Given the description of an element on the screen output the (x, y) to click on. 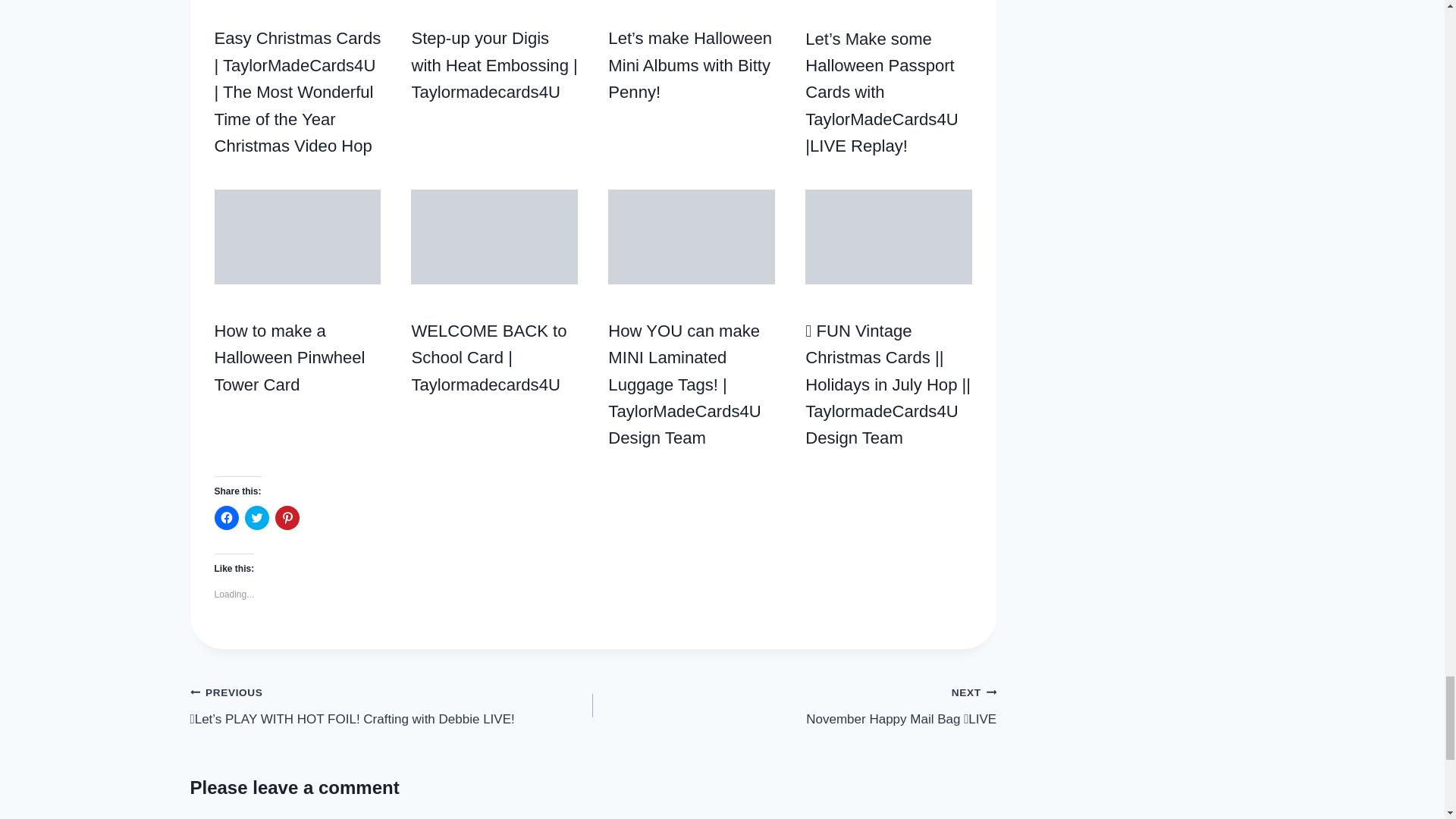
Click to share on Facebook (226, 517)
Click to share on Pinterest (286, 517)
Click to share on Twitter (255, 517)
